Given the description of an element on the screen output the (x, y) to click on. 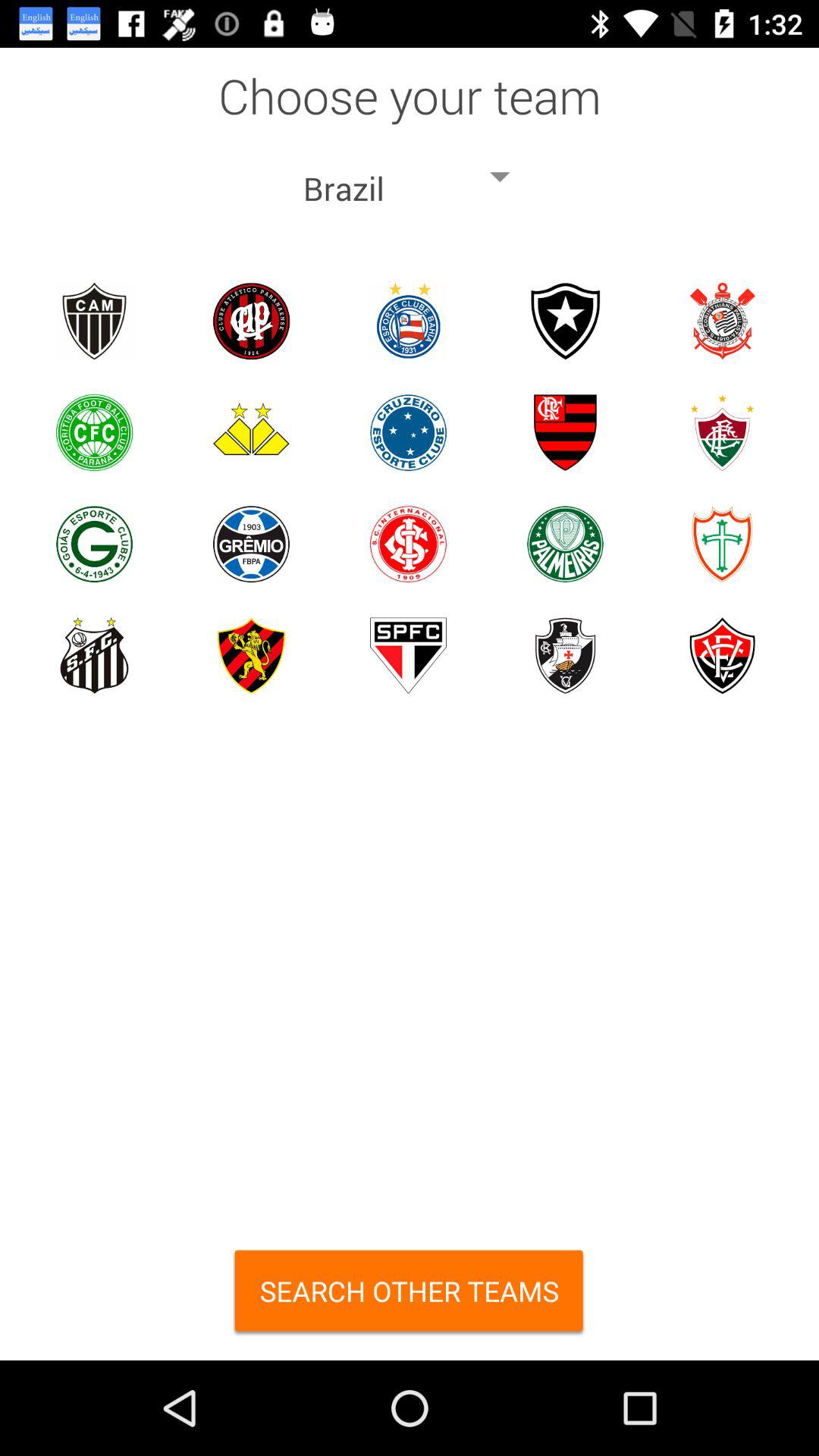
pick this team (722, 544)
